Given the description of an element on the screen output the (x, y) to click on. 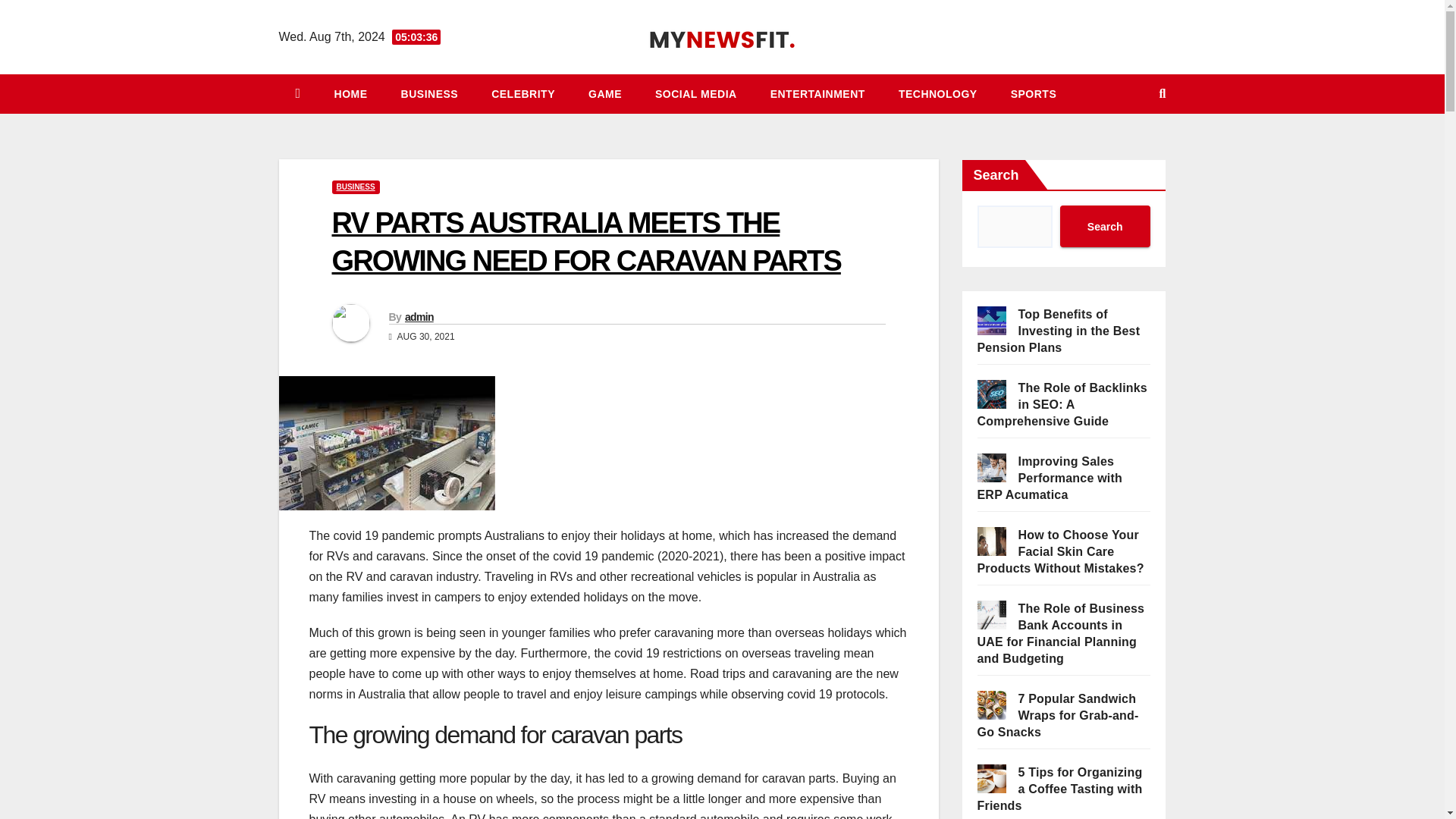
GAME (605, 93)
ENTERTAINMENT (818, 93)
TECHNOLOGY (938, 93)
RV PARTS AUSTRALIA MEETS THE GROWING NEED FOR CARAVAN PARTS (586, 241)
BUSINESS (355, 187)
admin (418, 316)
Entertainment (818, 93)
Game (605, 93)
SPORTS (1034, 93)
CELEBRITY (523, 93)
